Given the description of an element on the screen output the (x, y) to click on. 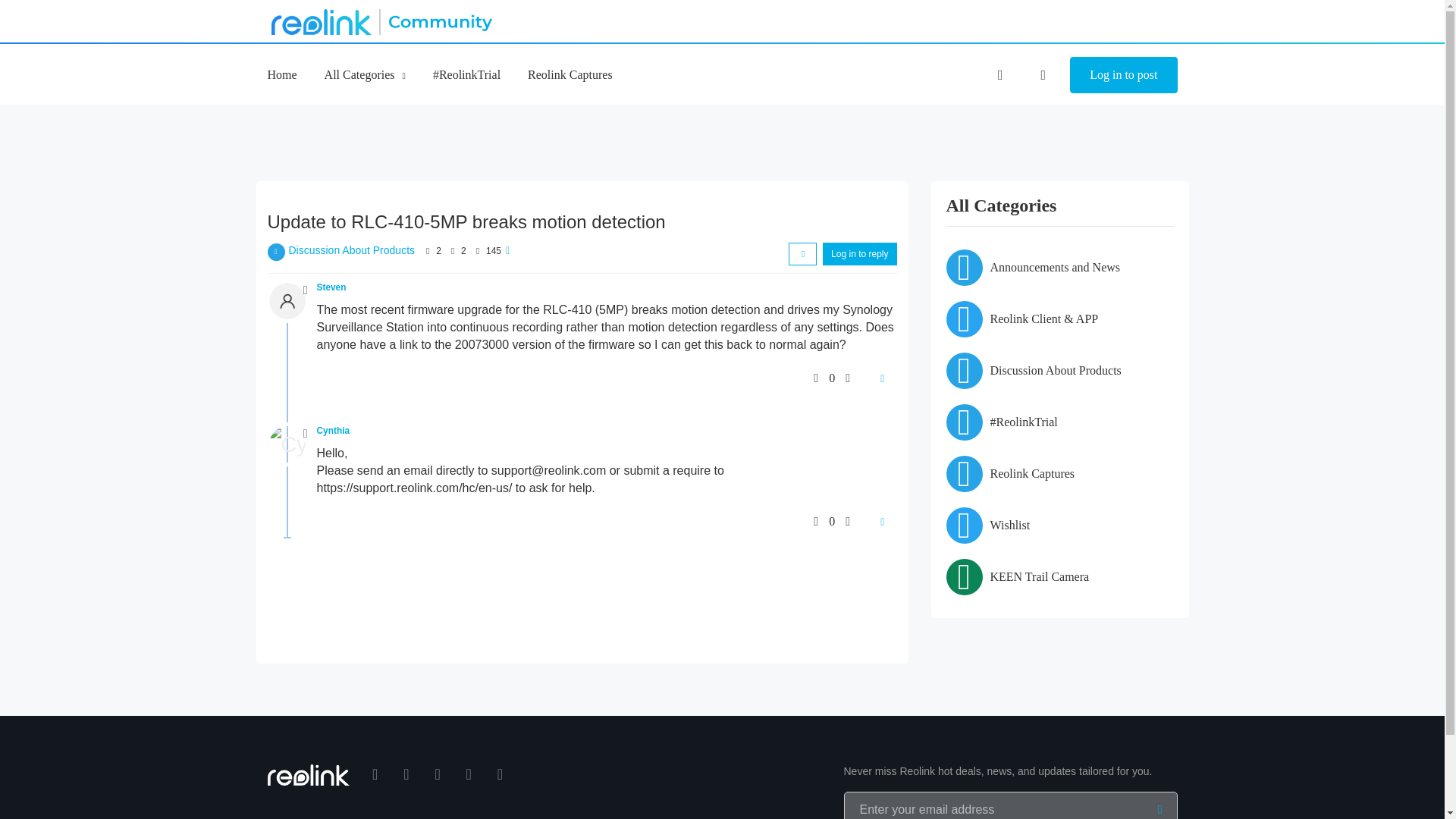
Log in to post (1123, 75)
Reolink Captures (569, 74)
Discussion About Products (351, 250)
Sort by (802, 253)
Posters (427, 250)
Views (477, 250)
All Categories (365, 74)
145 (493, 250)
Steven (331, 286)
Posts (452, 250)
